Given the description of an element on the screen output the (x, y) to click on. 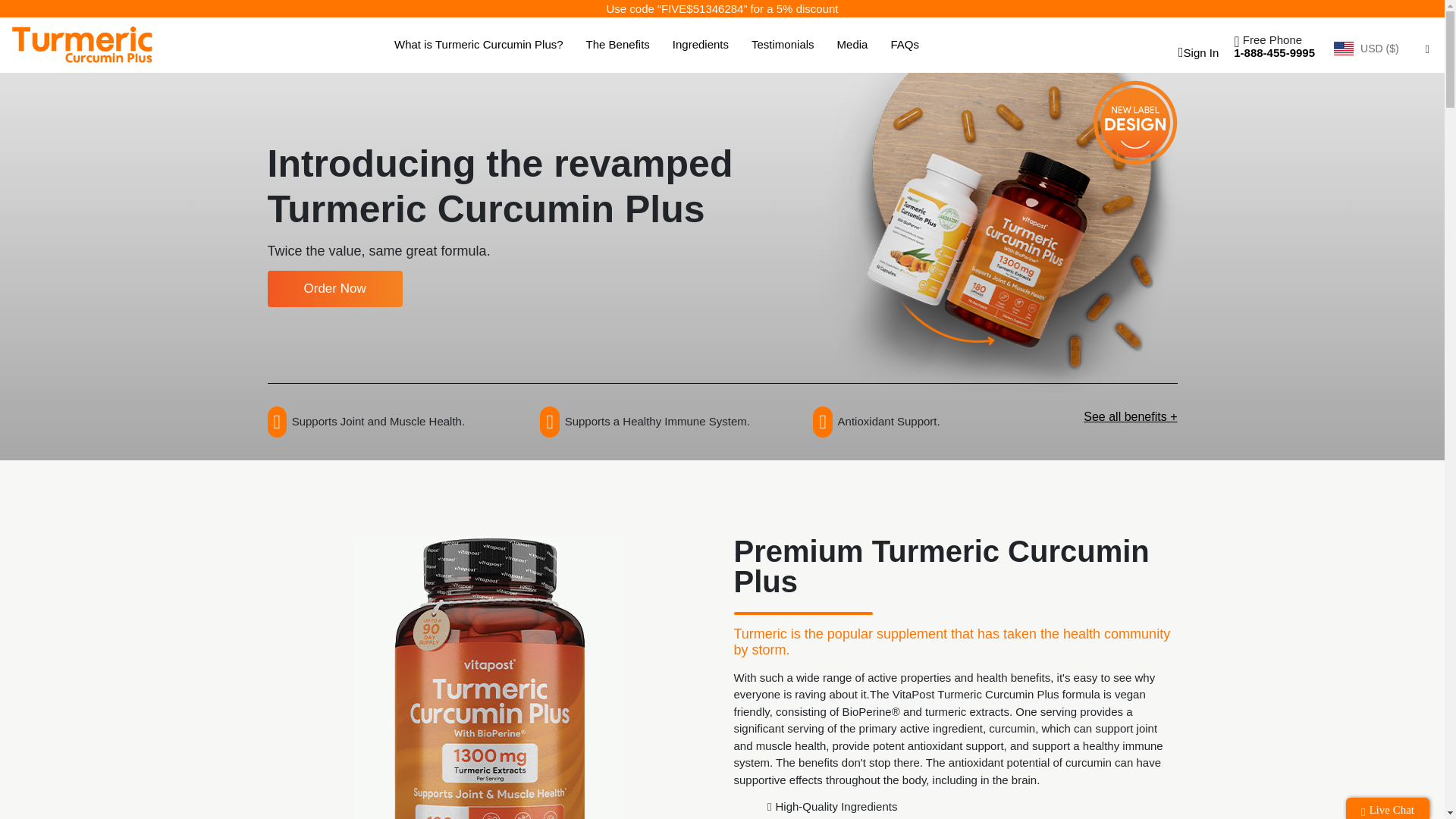
1-888-455-9995 (1273, 51)
What is Turmeric Curcumin Plus? (478, 45)
Testimonials (782, 45)
Media (852, 45)
Ingredients (700, 45)
Sign In (1195, 51)
Turmeric Curcumin Plus Official Logo (81, 44)
The Benefits (617, 45)
FAQs (903, 45)
Order Now (333, 289)
